Given the description of an element on the screen output the (x, y) to click on. 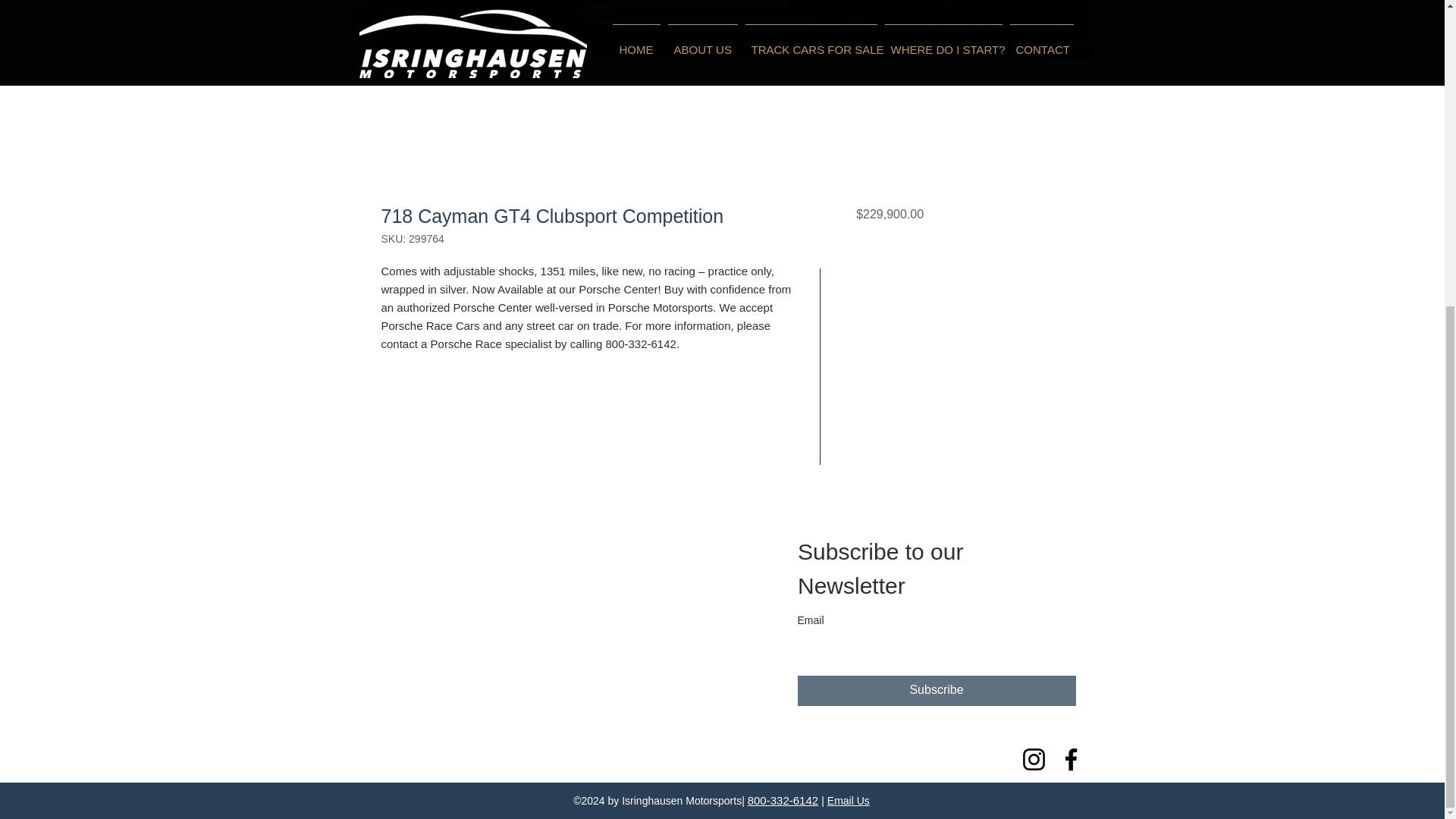
800-332-6142 (783, 800)
Subscribe (936, 690)
Email Us (848, 800)
